Given the description of an element on the screen output the (x, y) to click on. 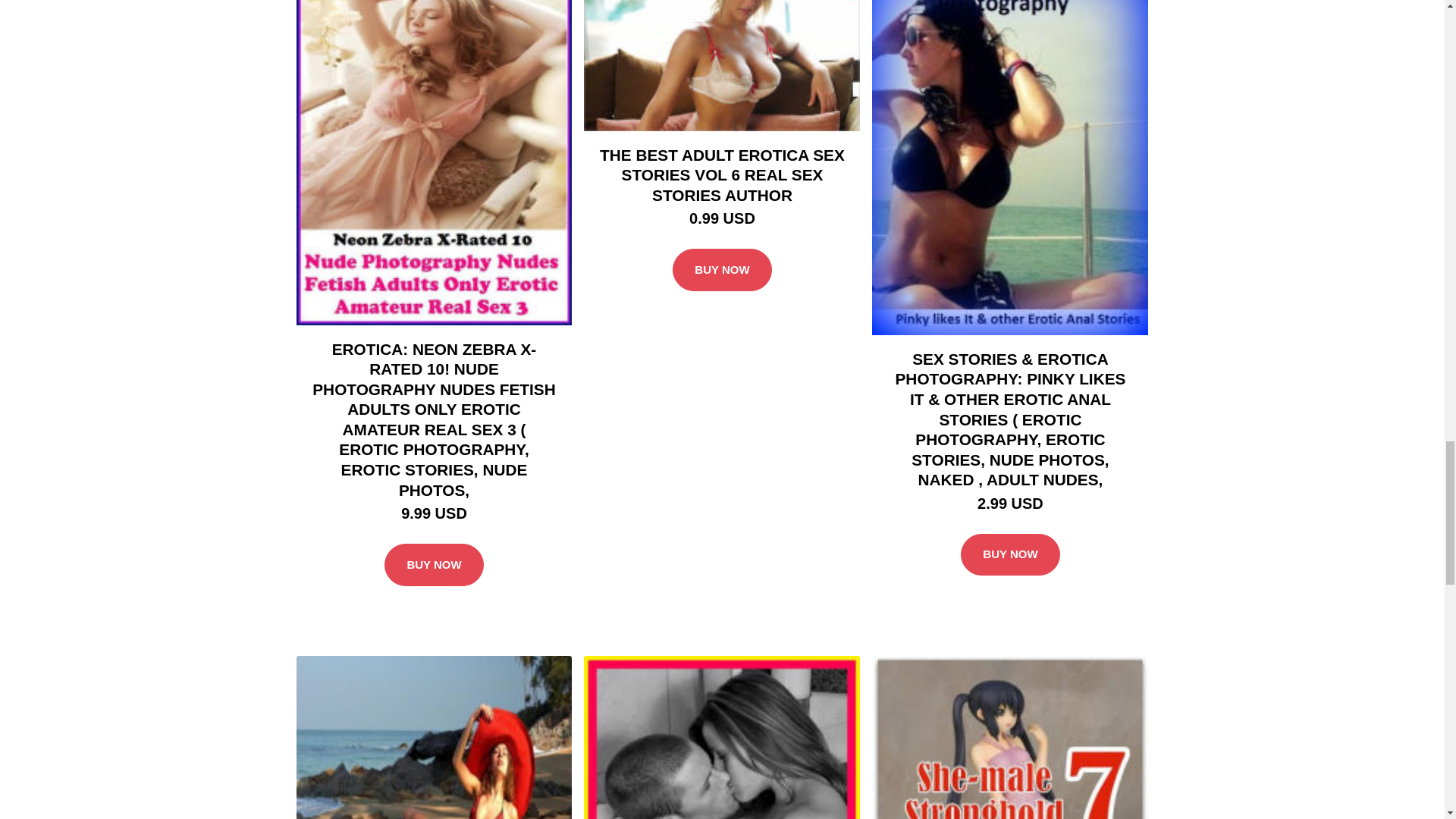
BUY NOW (433, 564)
